Given the description of an element on the screen output the (x, y) to click on. 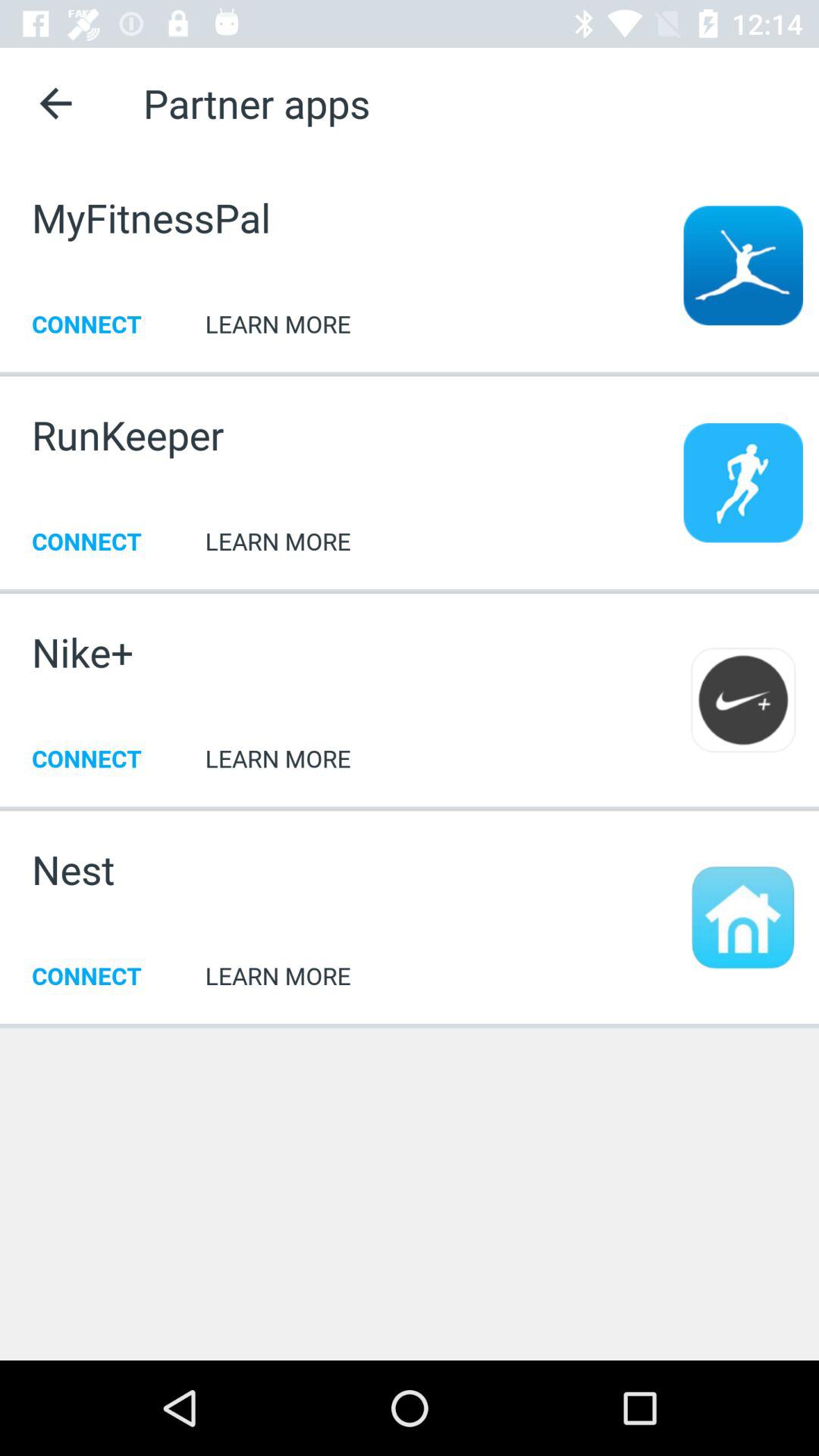
click the app next to partner apps icon (55, 103)
